Given the description of an element on the screen output the (x, y) to click on. 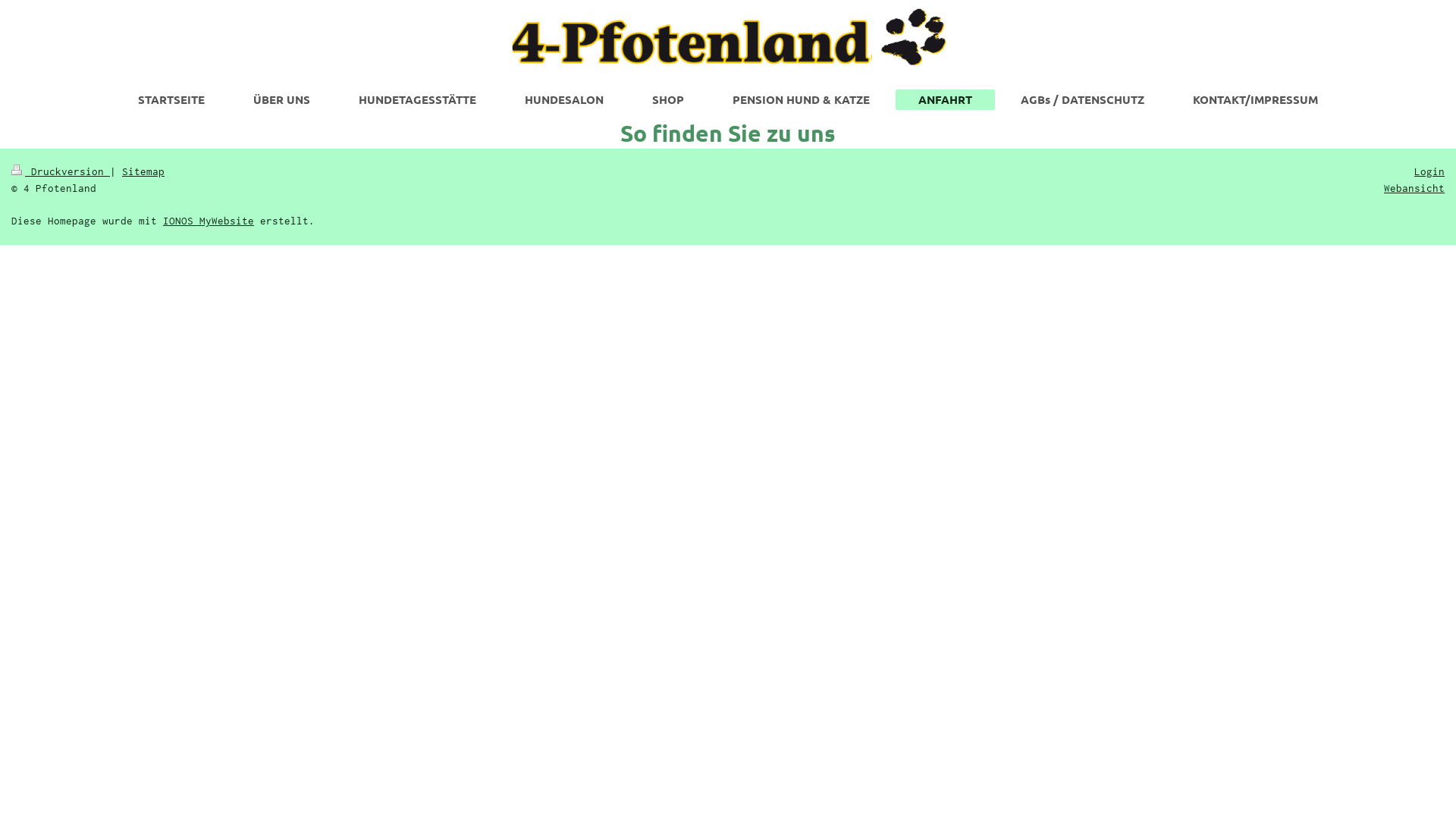
IONOS MyWebsite Element type: text (208, 220)
PENSION HUND & KATZE Element type: text (800, 99)
Webansicht Element type: text (1413, 188)
AGBs / DATENSCHUTZ Element type: text (1082, 99)
KONTAKT/IMPRESSUM Element type: text (1255, 99)
Login Element type: text (1429, 171)
Druckversion Element type: text (60, 171)
HUNDESALON Element type: text (564, 99)
SHOP Element type: text (667, 99)
STARTSEITE Element type: text (171, 99)
Sitemap Element type: text (143, 171)
ANFAHRT Element type: text (944, 99)
